Given the description of an element on the screen output the (x, y) to click on. 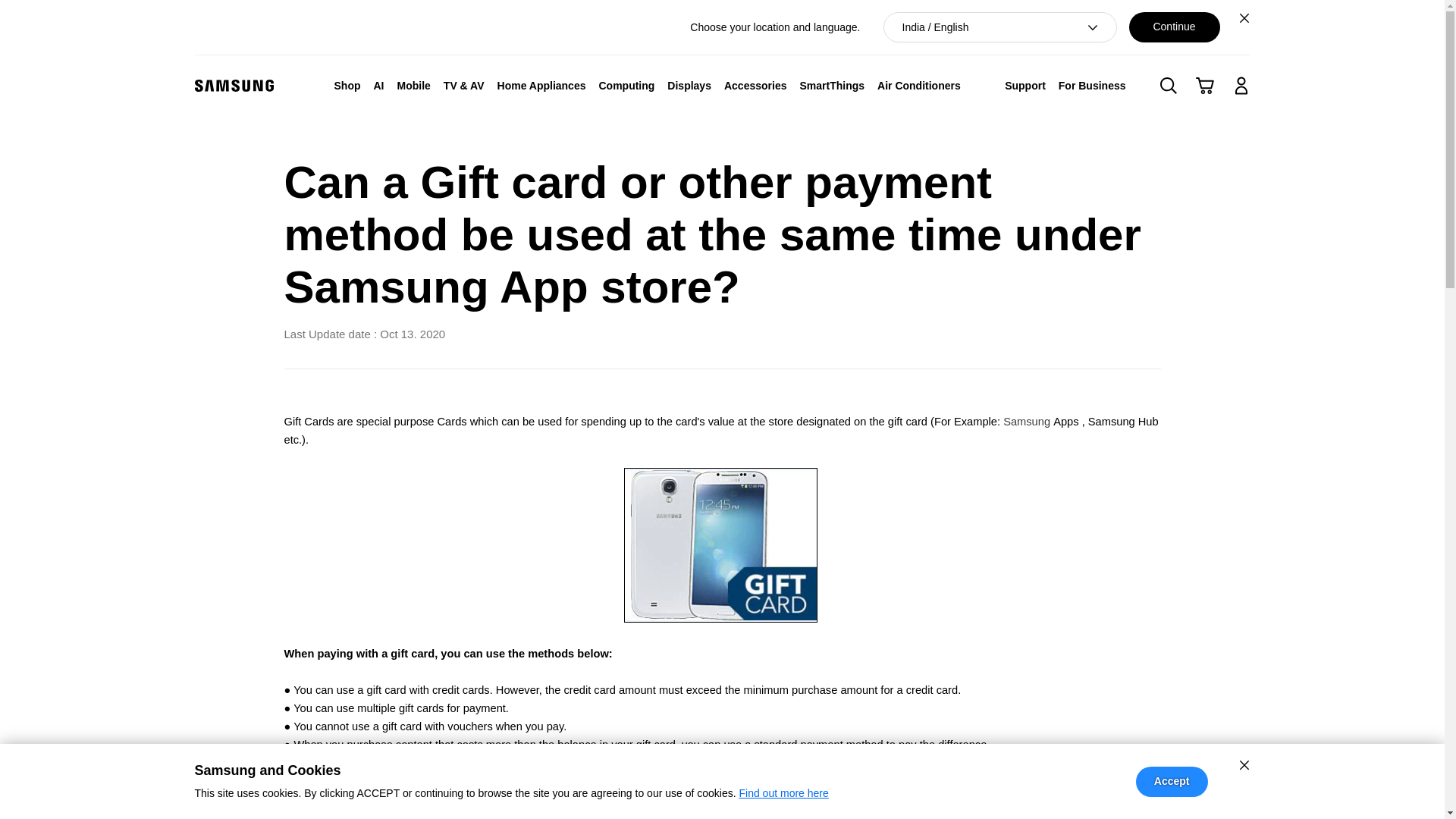
Accept (1171, 781)
Accept (1171, 781)
close (1243, 764)
. (720, 544)
Find out more here (783, 793)
AI (378, 85)
Shop (346, 85)
Close (1243, 17)
Continue (1174, 27)
